Given the description of an element on the screen output the (x, y) to click on. 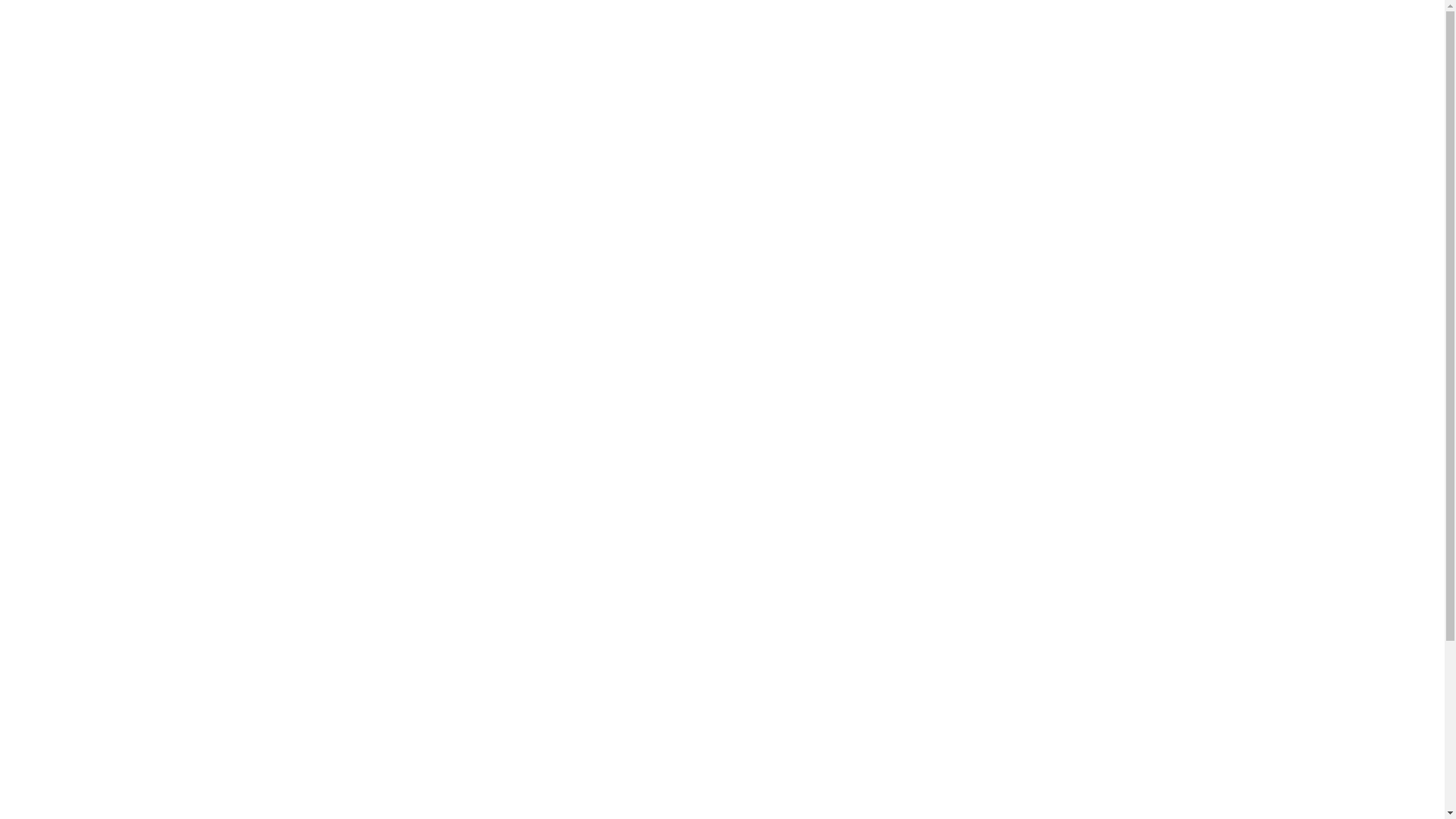
Verzend Element type: text (1017, 633)
